Given the description of an element on the screen output the (x, y) to click on. 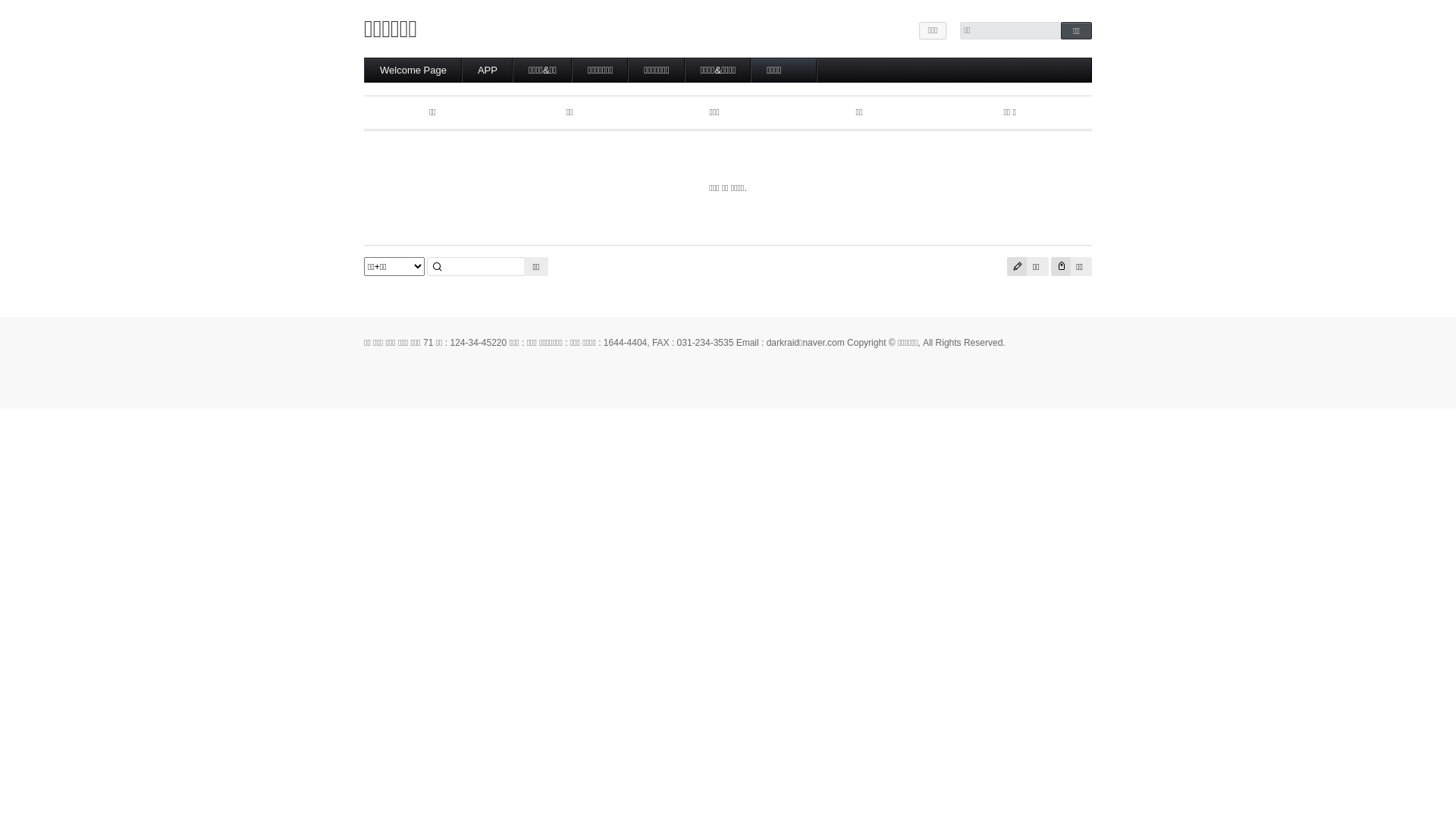
Welcome Page Element type: text (413, 70)
APP Element type: text (487, 70)
